Given the description of an element on the screen output the (x, y) to click on. 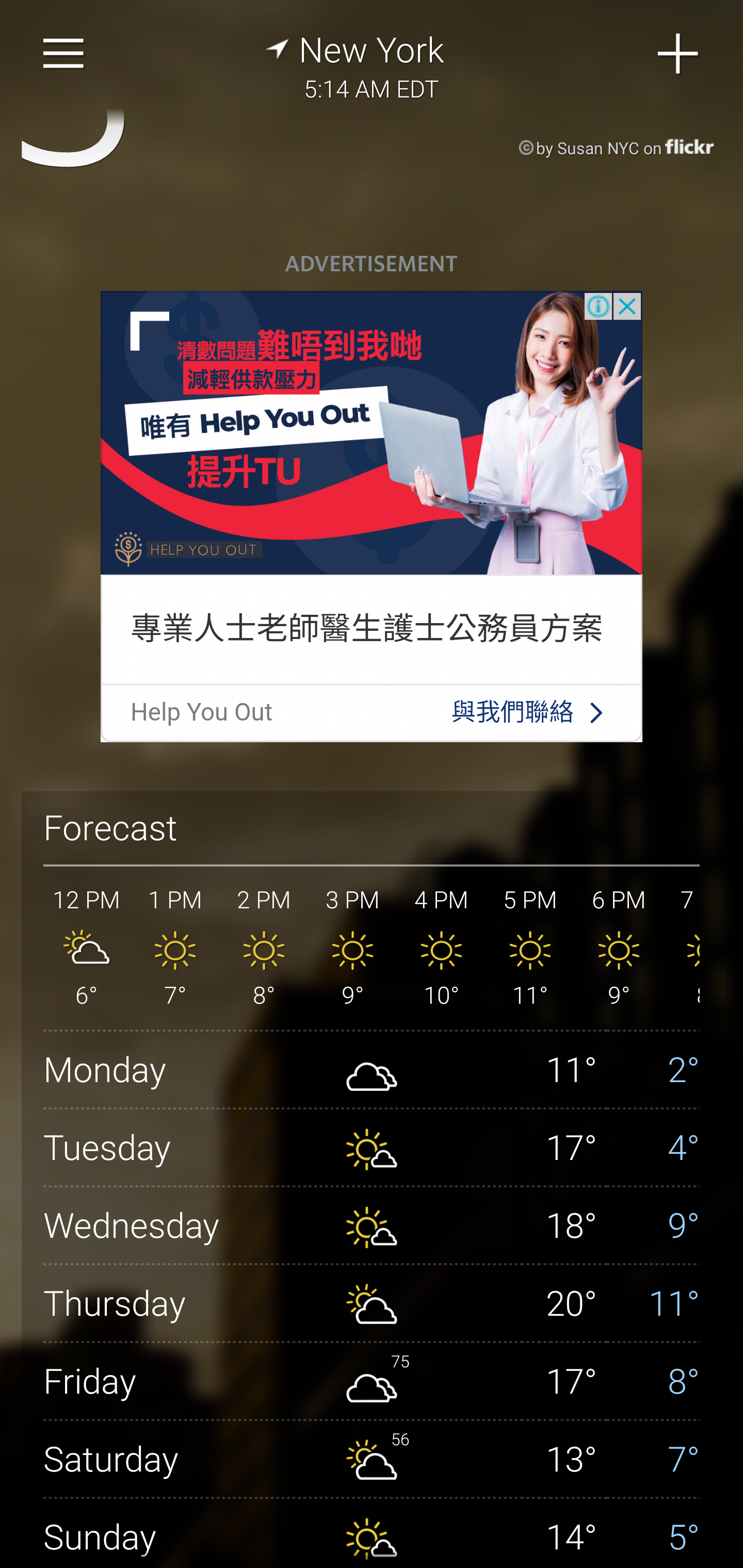
Sidebar (64, 54)
Add City (678, 53)
專業人士老師醫生護士公務員方案 (366, 627)
Help You Out (201, 711)
與我們聯絡 (513, 711)
